Given the description of an element on the screen output the (x, y) to click on. 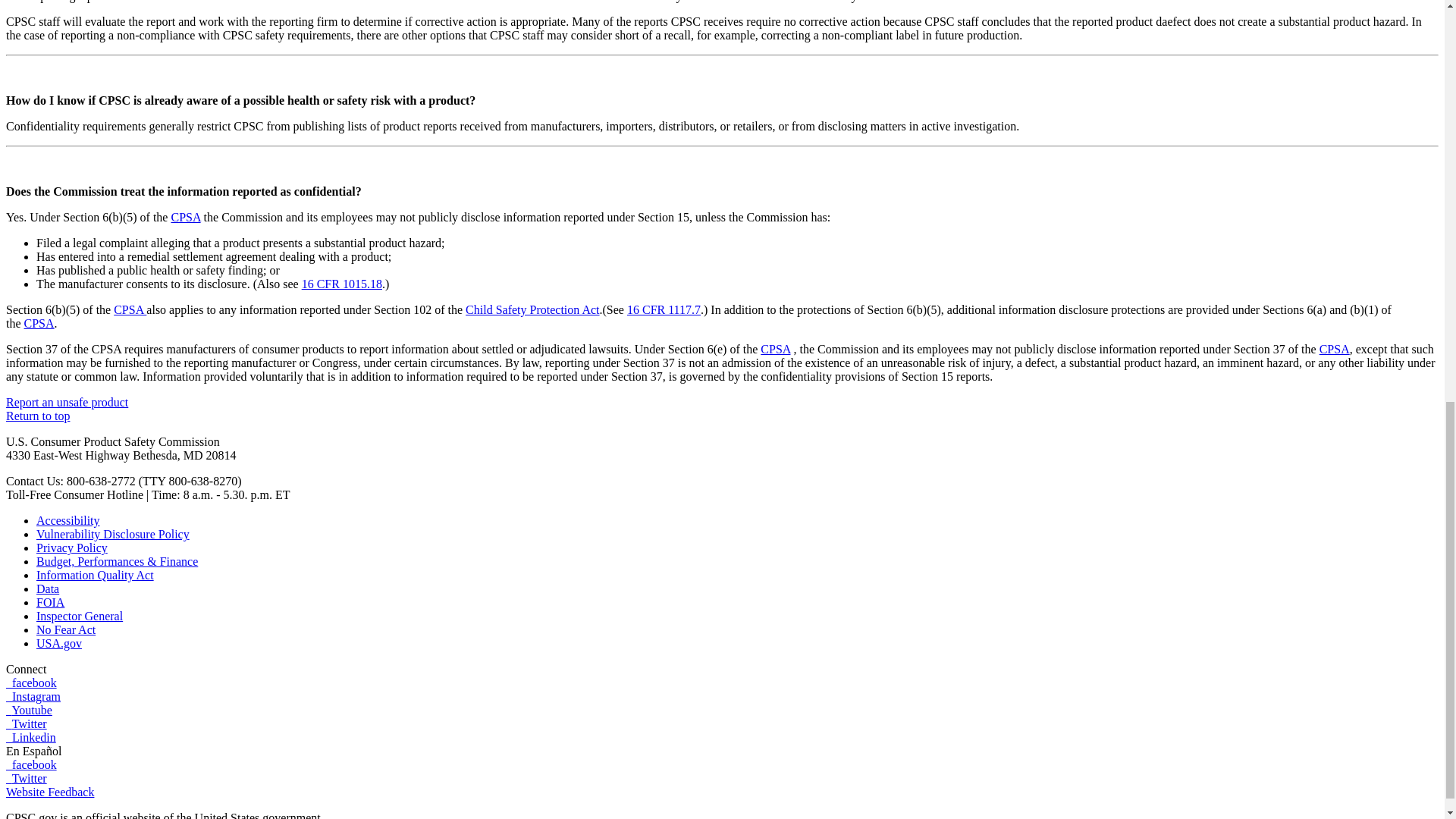
Report an unsafe product (66, 401)
16 CFR 1117.7 (663, 309)
FOIA (50, 602)
CPSC Youtube (28, 709)
Privacy Policy (71, 547)
CPSA (185, 216)
Data (47, 588)
CPSA (1334, 349)
Child Safety Protection Act (531, 309)
16 CFR 1015.18 (341, 283)
